Given the description of an element on the screen output the (x, y) to click on. 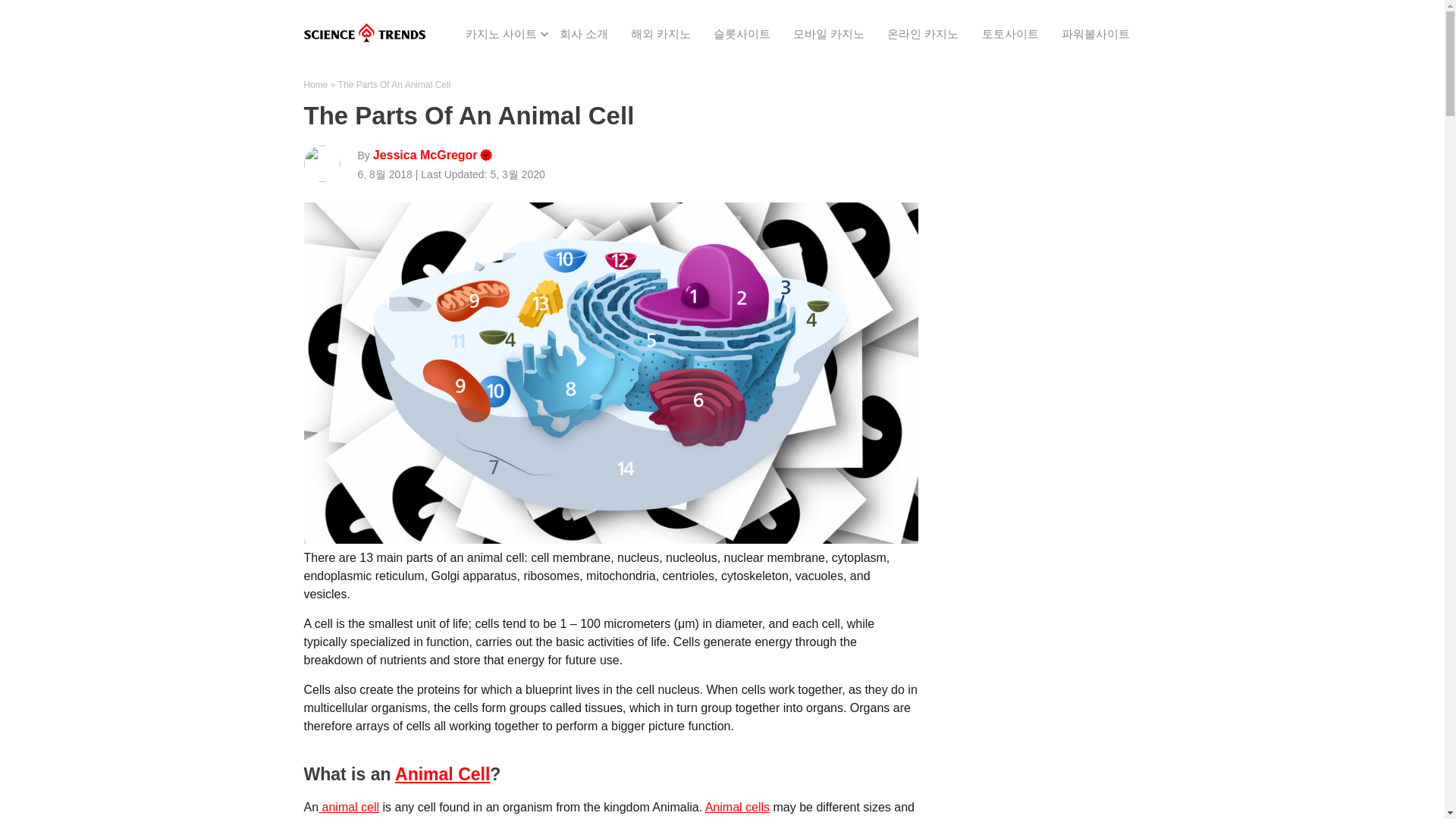
Jessica McGregor (424, 156)
Animal cells (737, 807)
Animal Cell (441, 773)
animal cell (348, 807)
Home (314, 84)
